Given the description of an element on the screen output the (x, y) to click on. 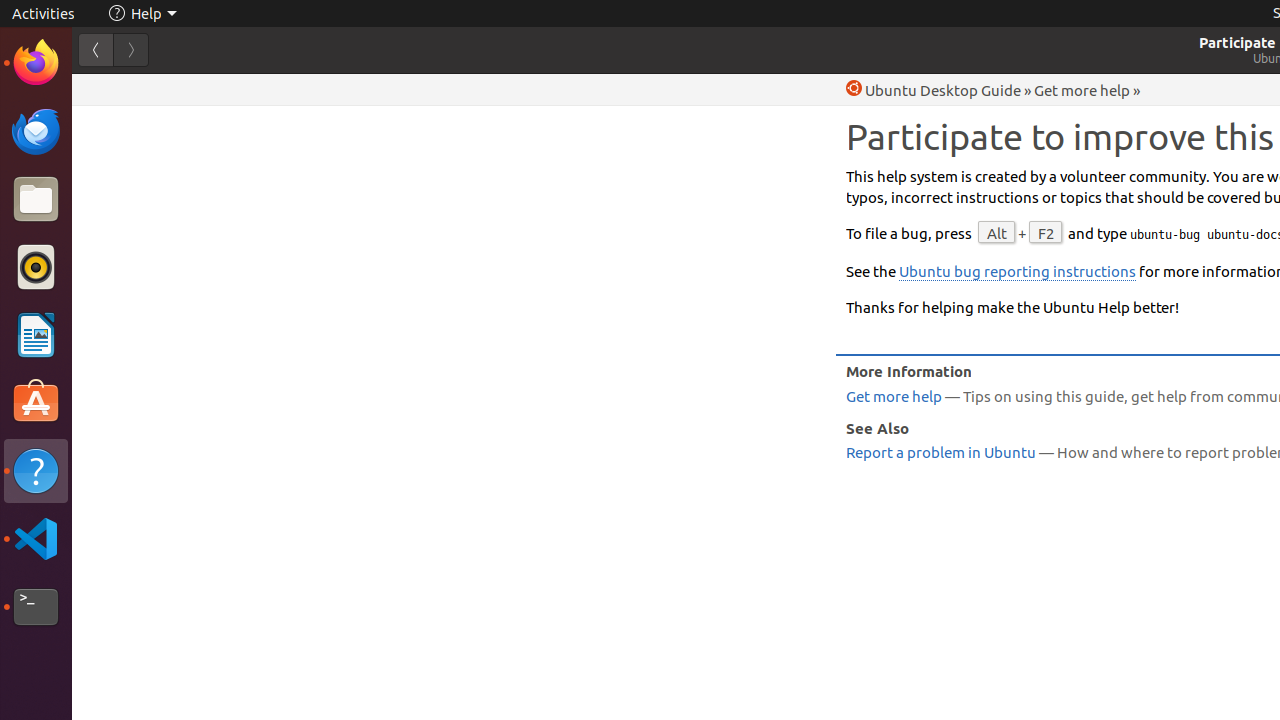
Activities Element type: label (43, 13)
Get more help Element type: link (1082, 90)
Ubuntu bug reporting instructions Element type: link (1017, 271)
Terminal Element type: push-button (36, 607)
Help Ubuntu Desktop Guide Element type: link (933, 89)
